Given the description of an element on the screen output the (x, y) to click on. 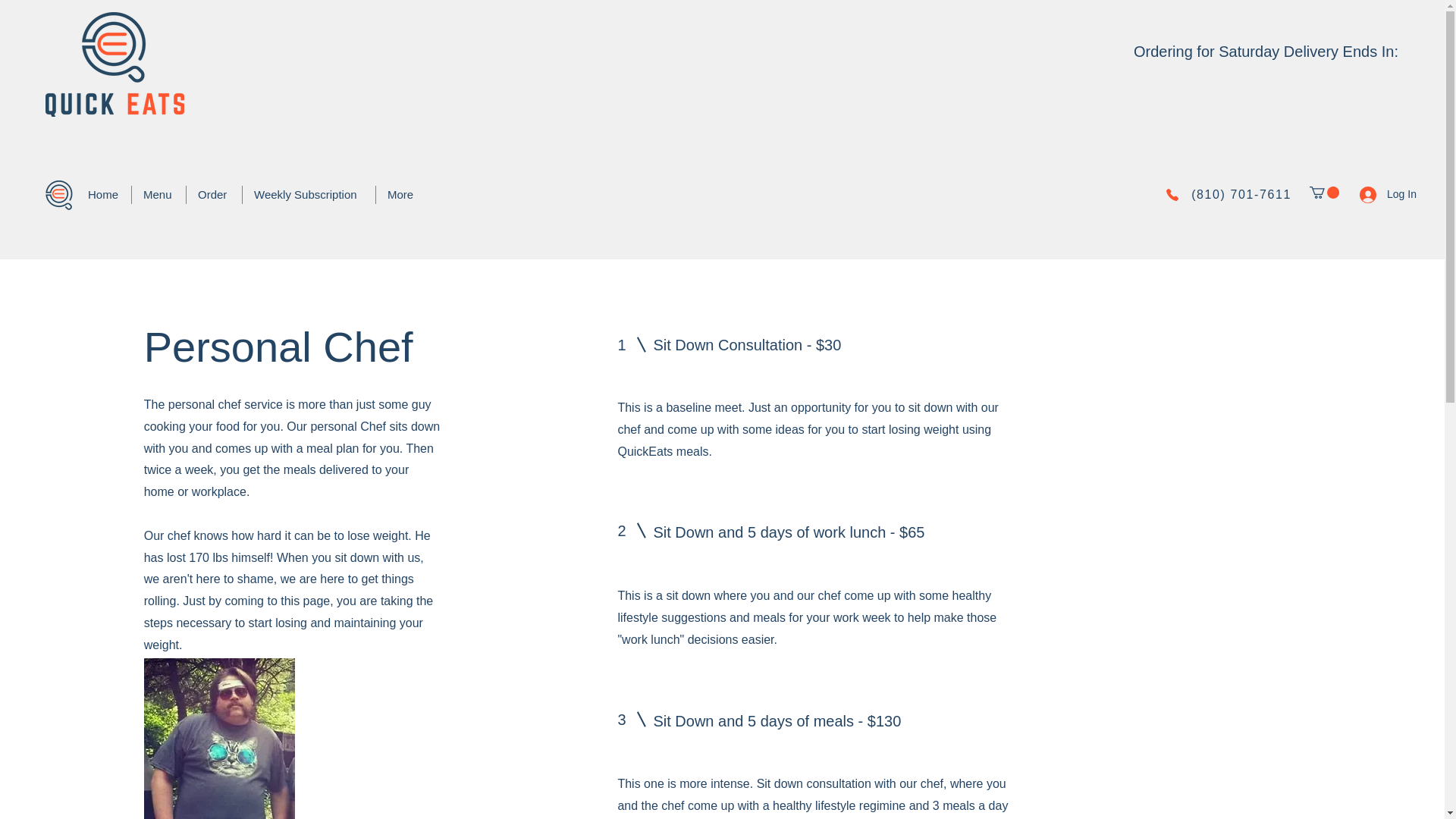
Order (213, 194)
Menu (159, 194)
Weekly Subscription (309, 194)
Log In (1377, 194)
Home (104, 194)
